Given the description of an element on the screen output the (x, y) to click on. 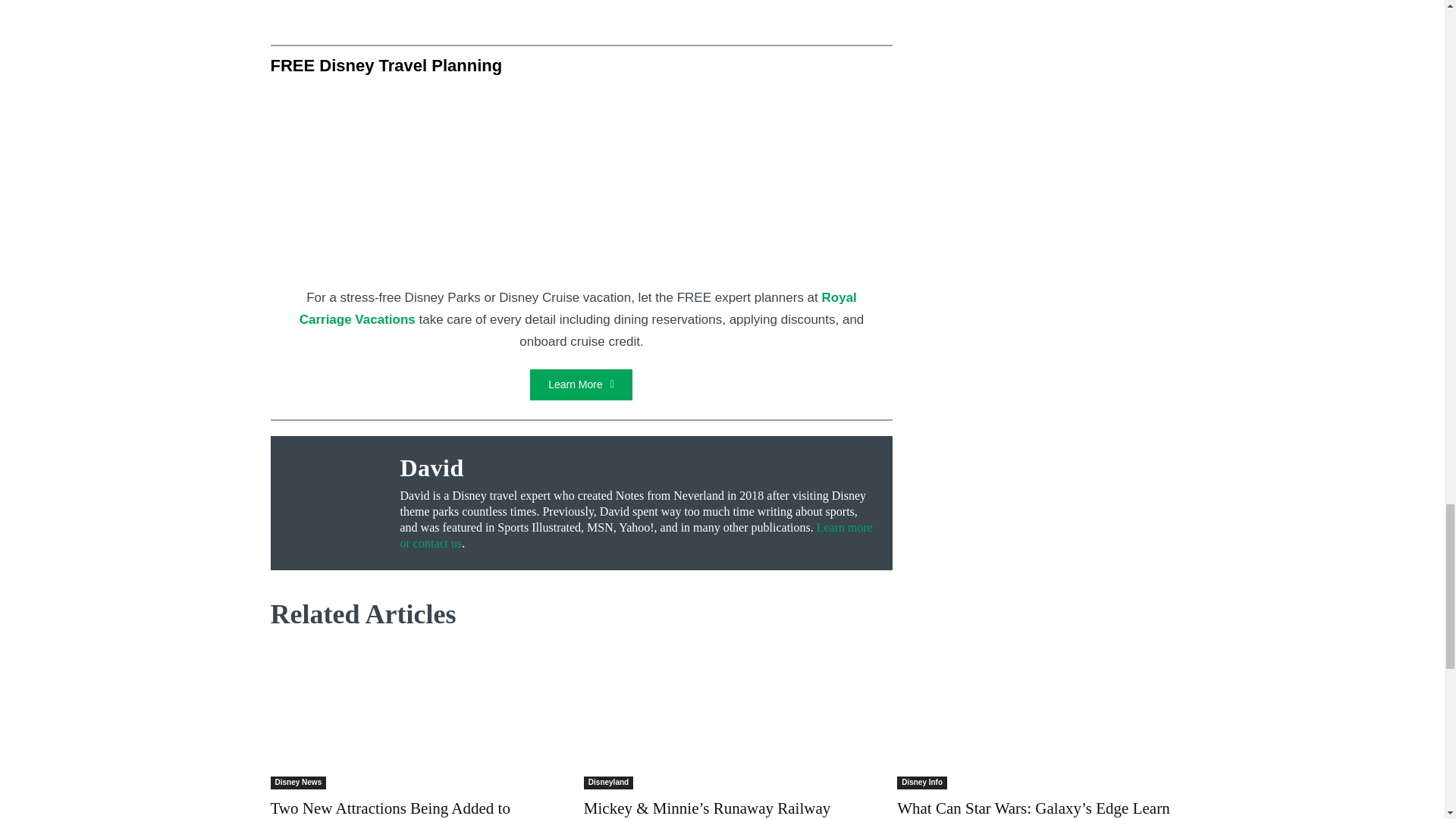
Royal Carriage Vacations (578, 308)
David (638, 467)
Learn more or contact us (636, 534)
Learn More (580, 384)
Learn More (580, 384)
NFN-Royal-Carriage-Travel-Agency (581, 278)
